Given the description of an element on the screen output the (x, y) to click on. 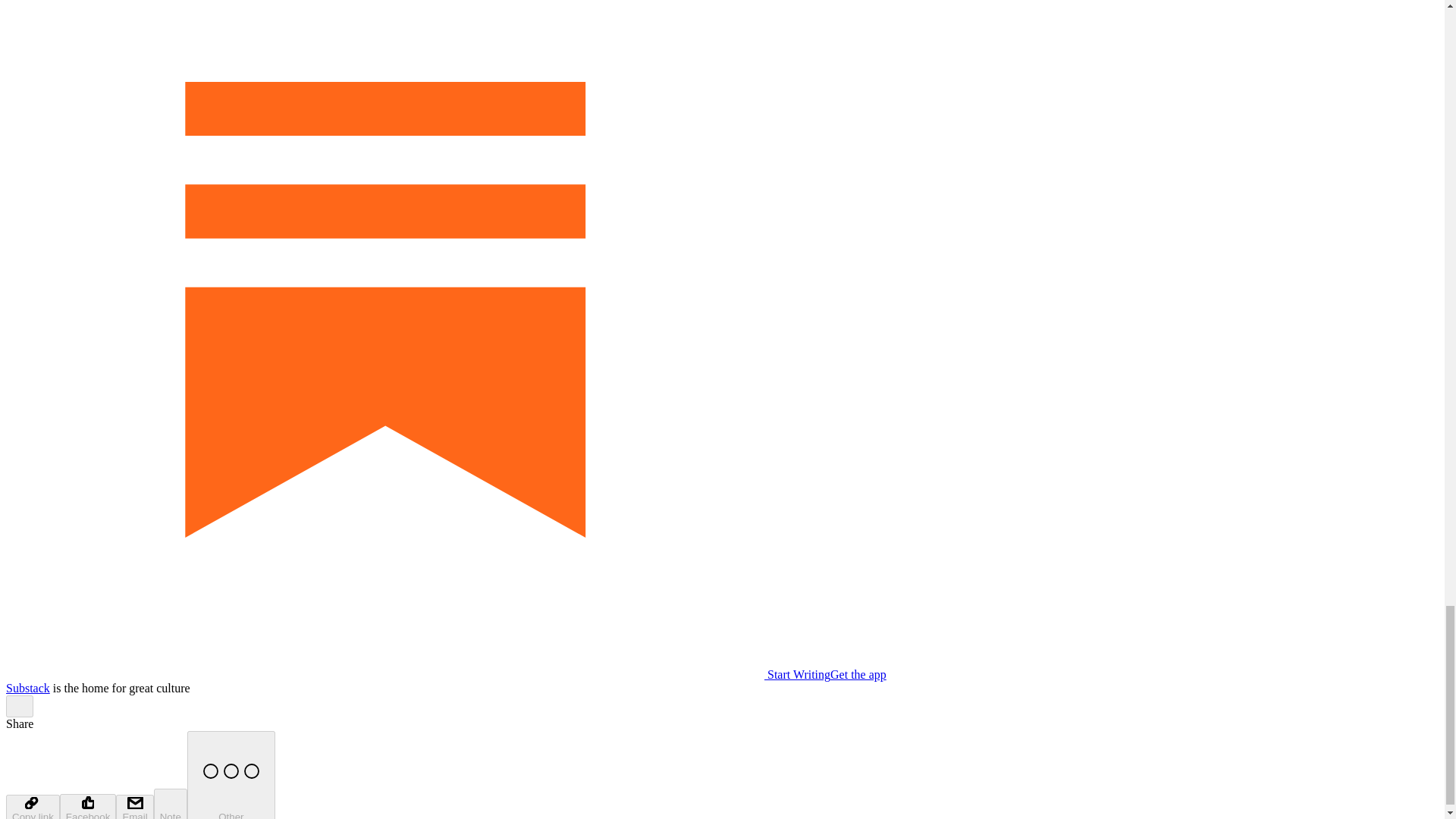
Substack (27, 687)
Start Writing (417, 674)
Get the app (857, 674)
